Given the description of an element on the screen output the (x, y) to click on. 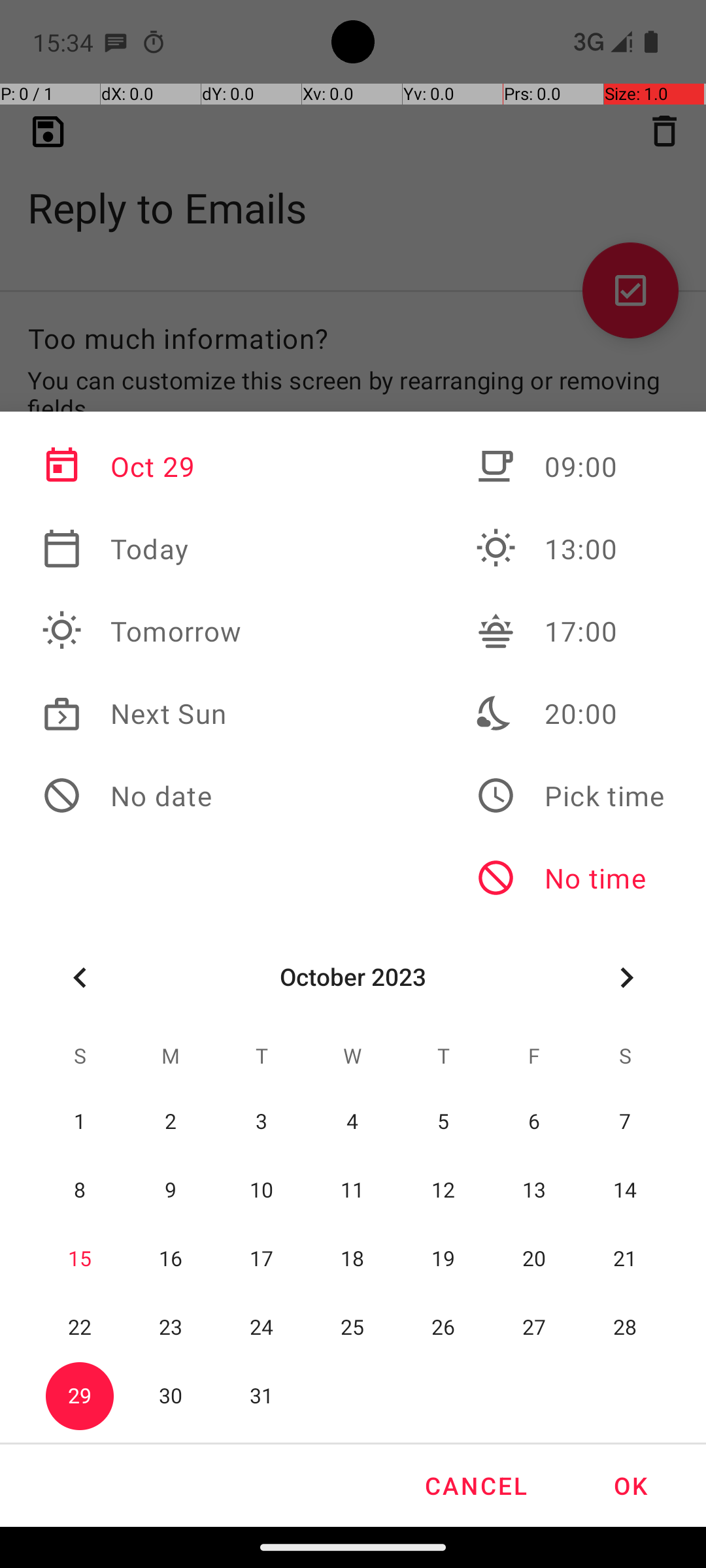
Oct 29 Element type: android.widget.CompoundButton (141, 466)
